Given the description of an element on the screen output the (x, y) to click on. 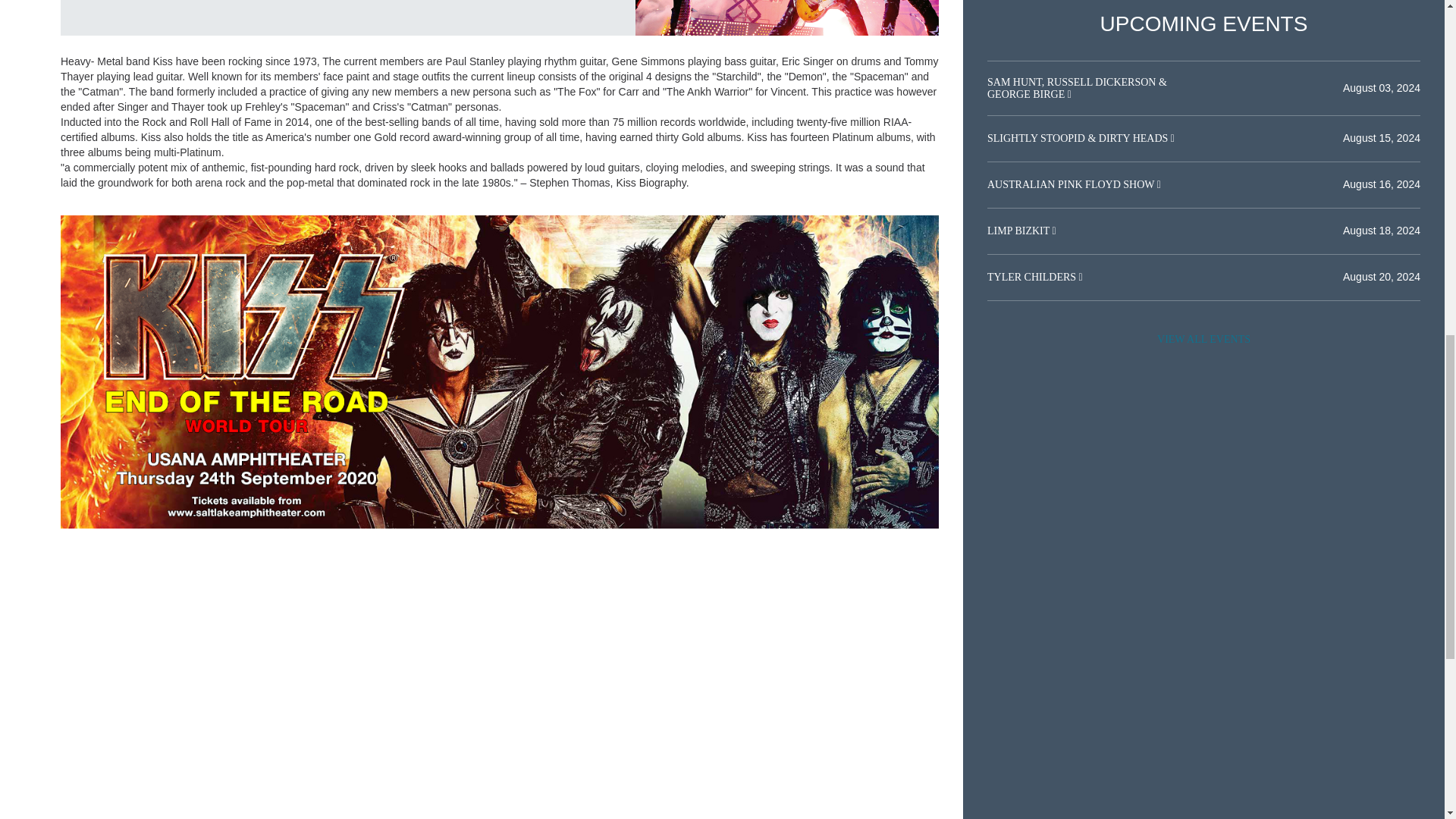
AUSTRALIAN PINK FLOYD SHOW (1072, 184)
VIEW ALL EVENTS (1203, 339)
LIMP BIZKIT (1019, 230)
Kiss: the End of the Road World Tour at USANA Amphitheater (786, 18)
TYLER CHILDERS (1032, 276)
